Given the description of an element on the screen output the (x, y) to click on. 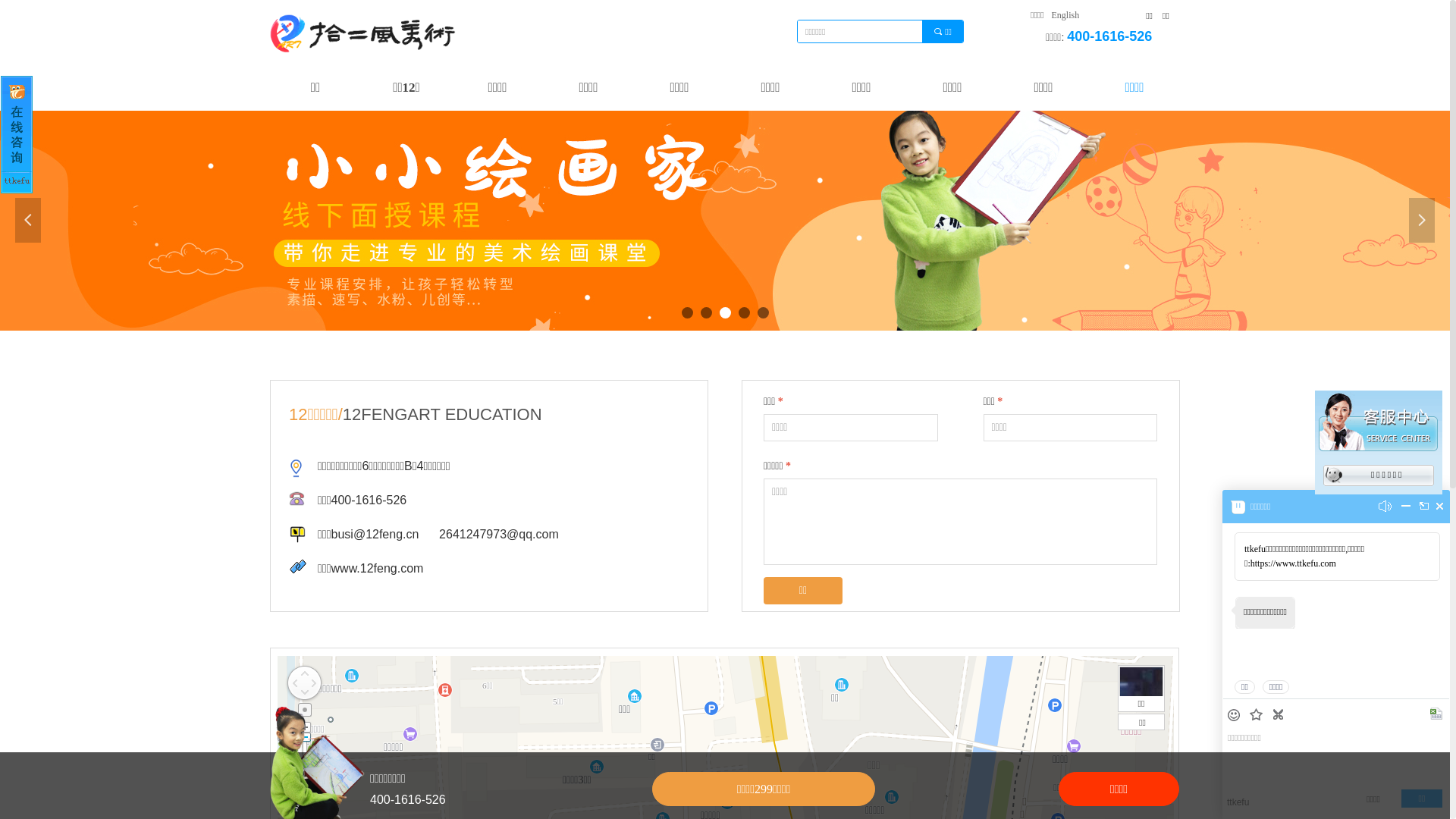
  Element type: text (1405, 509)
  Element type: text (1279, 714)
  Element type: text (1439, 505)
English Element type: text (1065, 14)
  Element type: text (1436, 714)
  Element type: text (1235, 715)
https://www.ttkefu.com Element type: text (1293, 563)
  Element type: text (1257, 715)
